Given the description of an element on the screen output the (x, y) to click on. 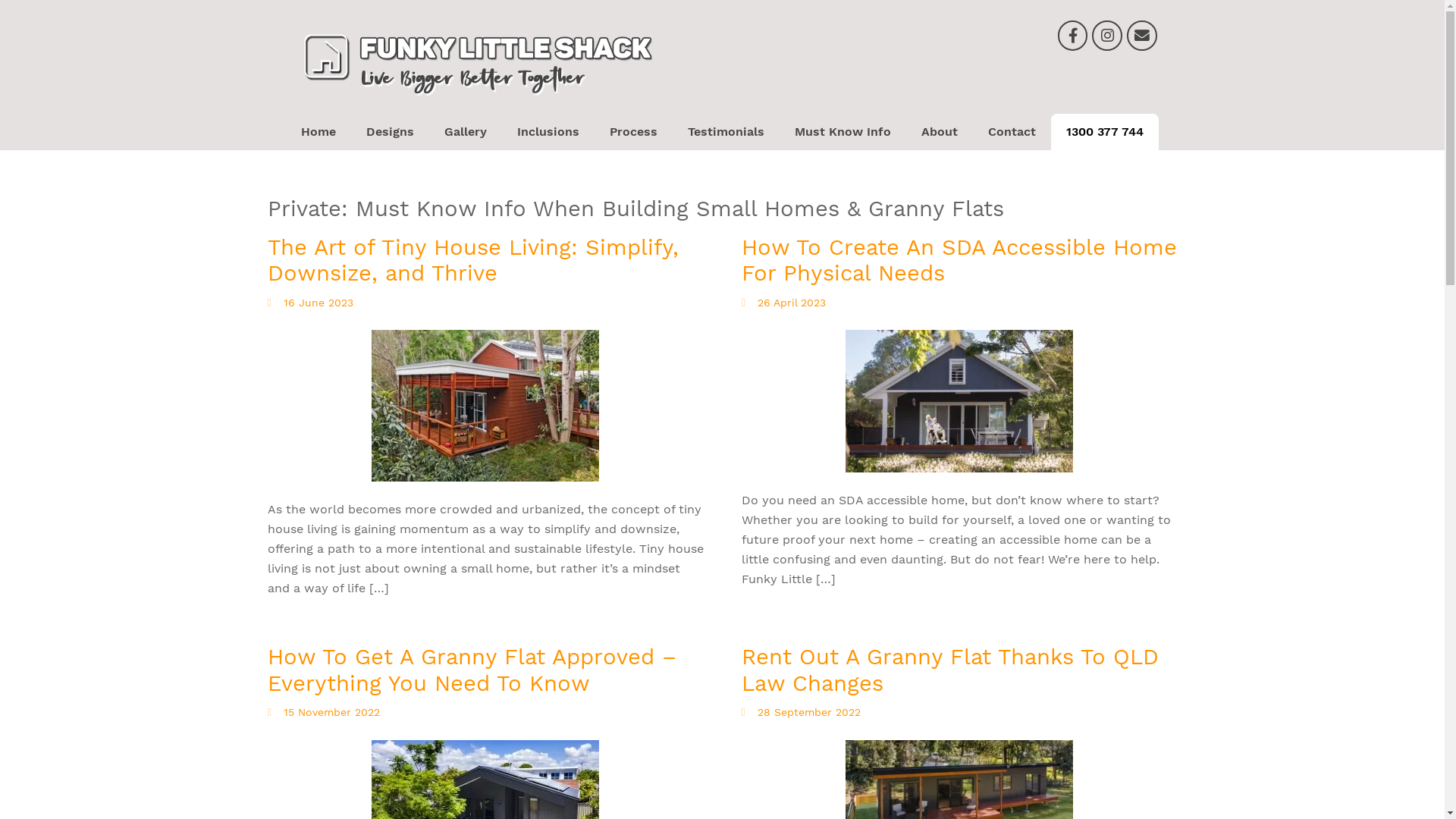
Contact Element type: text (1011, 131)
Must Know Info Element type: text (842, 131)
Process Element type: text (633, 131)
Skip to primary navigation Element type: text (0, 0)
About Element type: text (939, 131)
Home Element type: text (318, 131)
Inclusions Element type: text (548, 131)
How To Create An SDA Accessible Home For Physical Needs Element type: text (958, 260)
Funky Little Shack Element type: hover (493, 124)
Testimonials Element type: text (725, 131)
1300 377 744 Element type: text (1104, 131)
Rent Out A Granny Flat Thanks To QLD Law Changes Element type: text (949, 669)
Designs Element type: text (390, 131)
Gallery Element type: text (465, 131)
The Art of Tiny House Living: Simplify, Downsize, and Thrive Element type: text (471, 260)
